Given the description of an element on the screen output the (x, y) to click on. 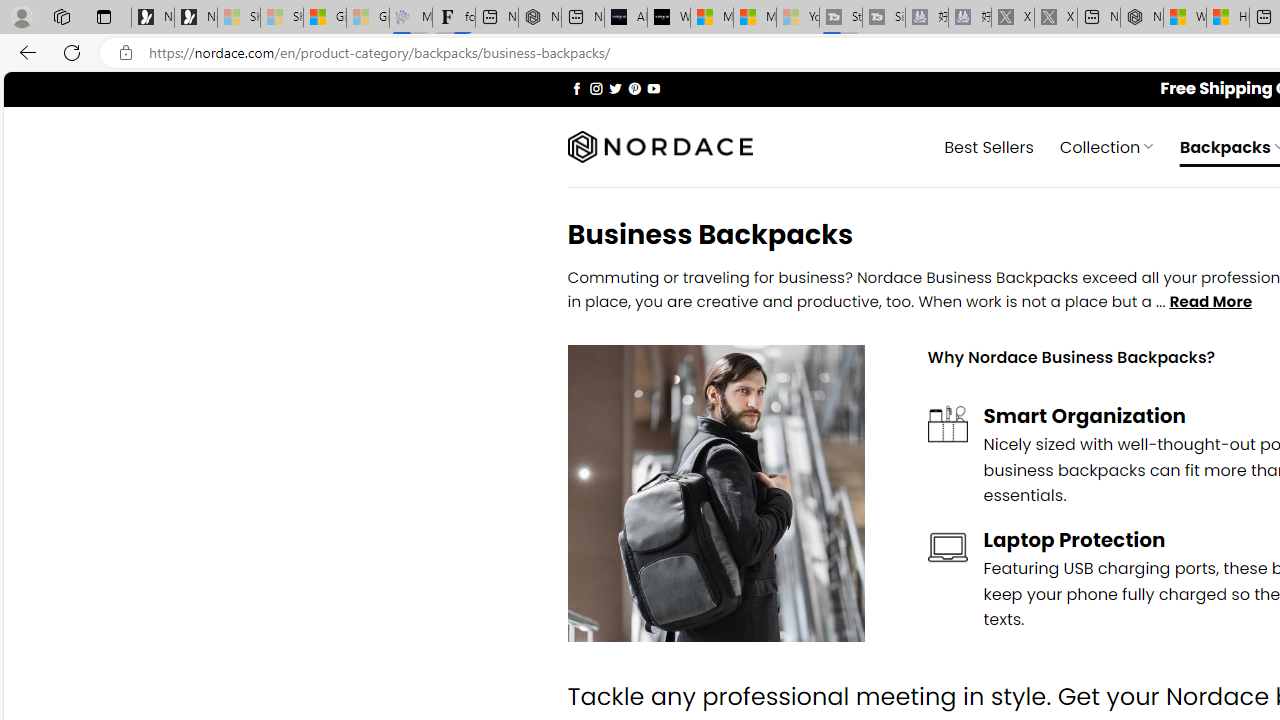
Read More (1210, 301)
